Given the description of an element on the screen output the (x, y) to click on. 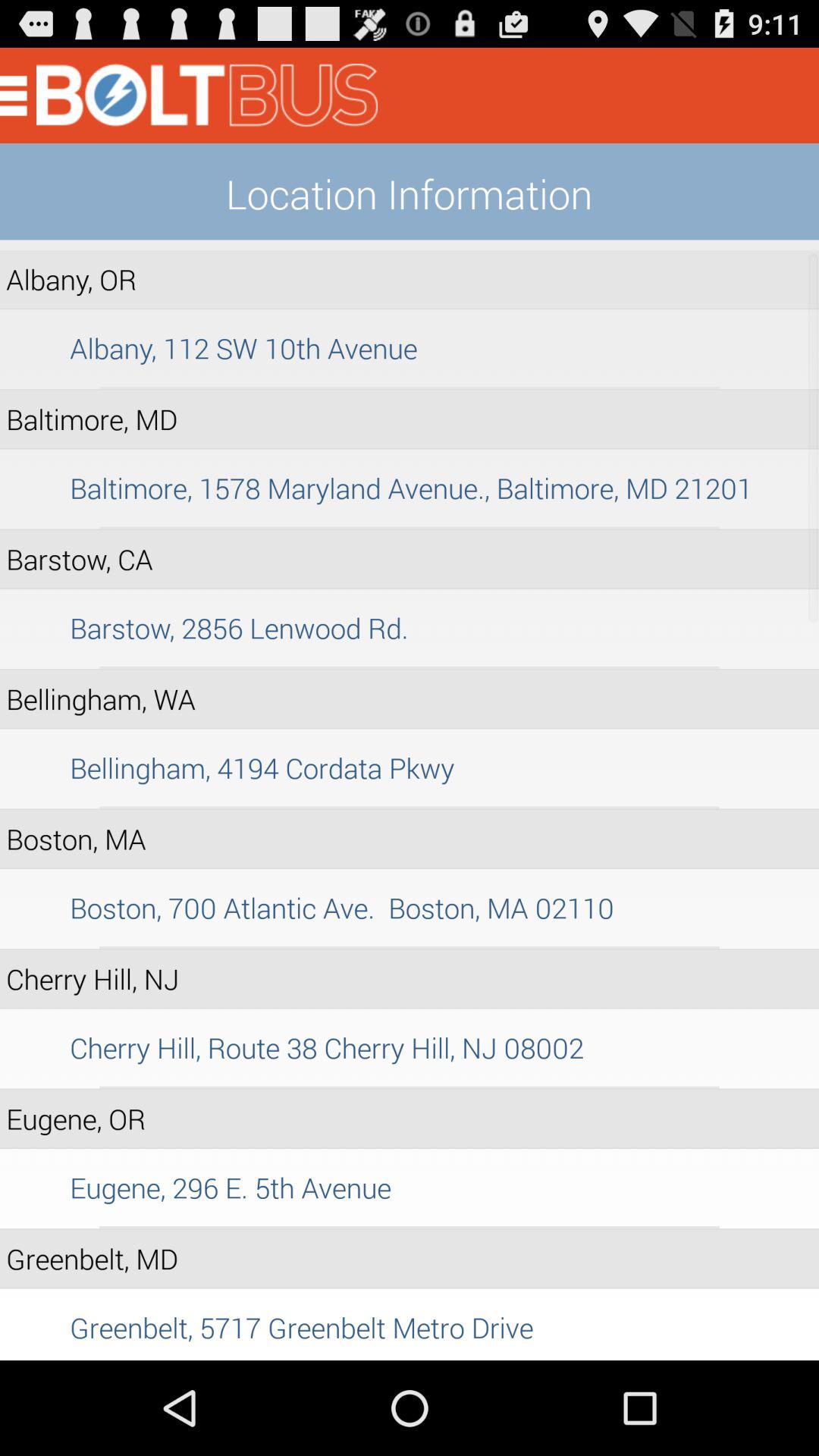
tap the icon below cherry hill route app (409, 1087)
